Given the description of an element on the screen output the (x, y) to click on. 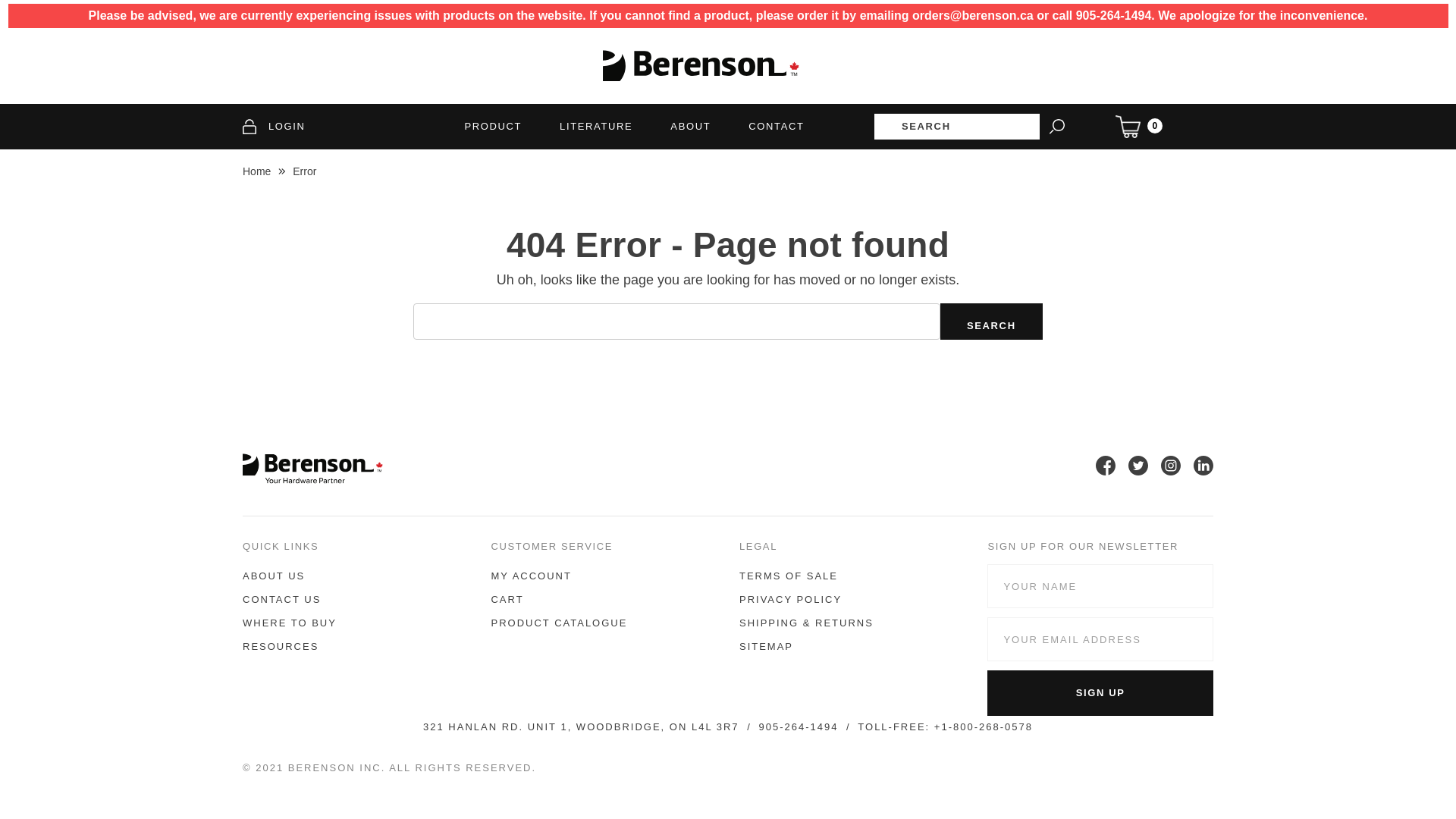
CONTACT Element type: text (775, 125)
PRODUCT CATALOGUE Element type: text (558, 622)
CONTACT US Element type: text (281, 599)
LITERATURE Element type: text (595, 125)
ABOUT US Element type: text (273, 575)
LOGIN Element type: text (273, 126)
Sign up Element type: text (1100, 692)
RESOURCES Element type: text (280, 646)
LinkedIn (Opens in a new tab) Element type: text (1203, 470)
TERMS OF SALE Element type: text (788, 575)
Error Element type: text (304, 171)
Twitter (Opens in a new tab) Element type: text (1139, 470)
905-264-1494 Element type: text (797, 726)
Submit Element type: text (49, 22)
ABOUT Element type: text (690, 125)
321 HANLAN RD. UNIT 1, WOODBRIDGE, ON L4L 3R7 Element type: text (581, 726)
PRIVACY POLICY Element type: text (790, 599)
SITEMAP Element type: text (766, 646)
SHIPPING & RETURNS Element type: text (806, 622)
Facebook (Opens in a new tab) Element type: text (1107, 470)
WHERE TO BUY Element type: text (289, 622)
Home Element type: text (256, 171)
0 Element type: text (1138, 126)
PRODUCT Element type: text (492, 125)
CART Element type: text (506, 599)
Search Element type: text (991, 321)
MY ACCOUNT Element type: text (530, 575)
Instagram (Opens in a new tab) Element type: text (1172, 470)
